Given the description of an element on the screen output the (x, y) to click on. 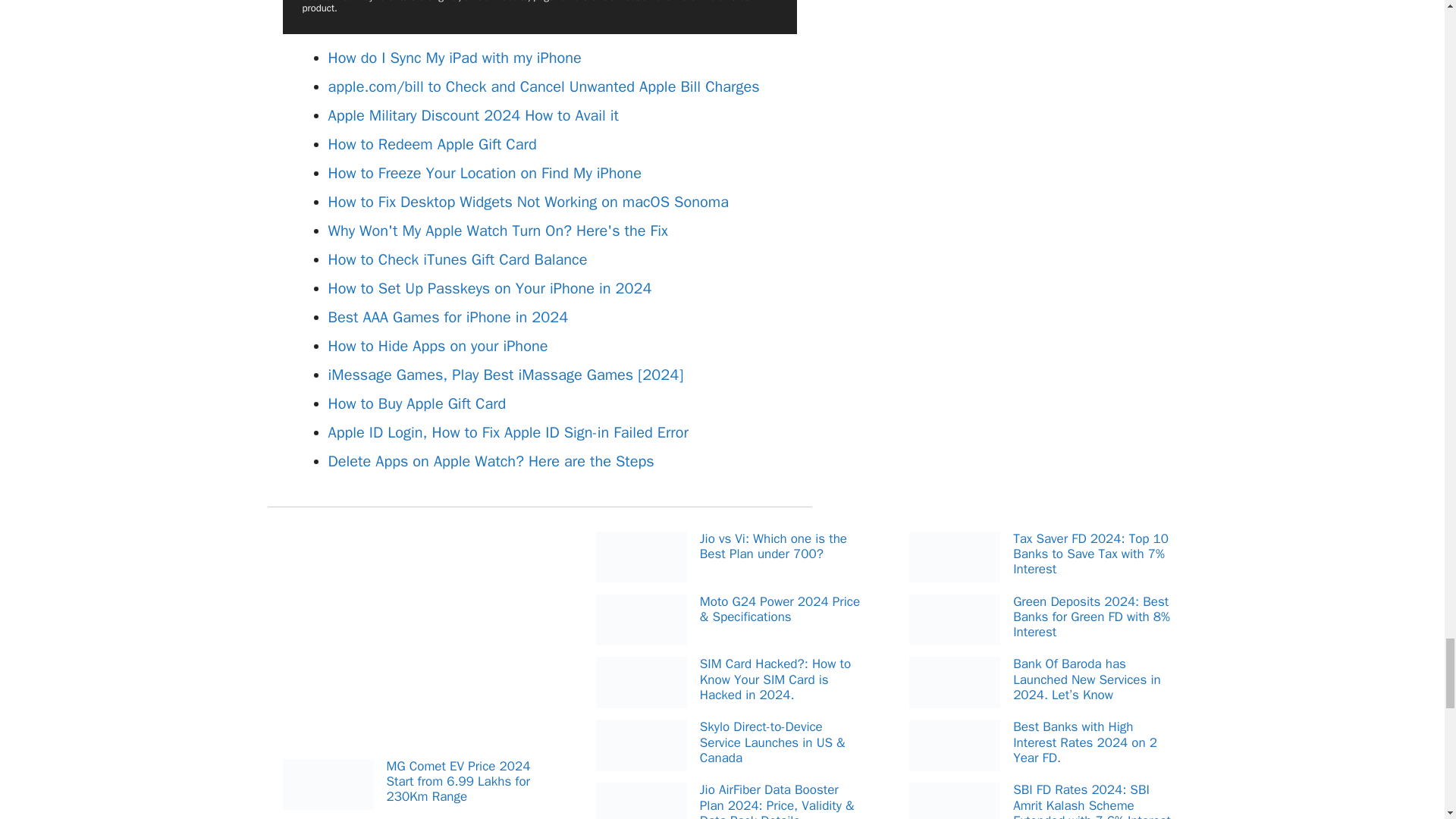
How to Freeze Your Location on Find My iPhone (483, 172)
How to Set Up Passkeys on Your iPhone in 2024 (488, 288)
Best AAA Games for iPhone in 2024 (447, 316)
Apple Military Discount 2024 How to Avail it (472, 115)
How to Redeem Apple Gift Card (431, 144)
How to Hide Apps on your iPhone (437, 345)
Delete Apps on Apple Watch? Here are the Steps (490, 461)
Why Won't My Apple Watch Turn On? Here's the Fix (496, 230)
How to Fix Desktop Widgets Not Working on macOS Sonoma (528, 201)
How to Check iTunes Gift Card Balance (456, 259)
Apple ID Login, How to Fix Apple ID Sign-in Failed Error (507, 432)
How to Buy Apple Gift Card (416, 403)
How do I Sync My iPad with my iPhone (453, 57)
